Given the description of an element on the screen output the (x, y) to click on. 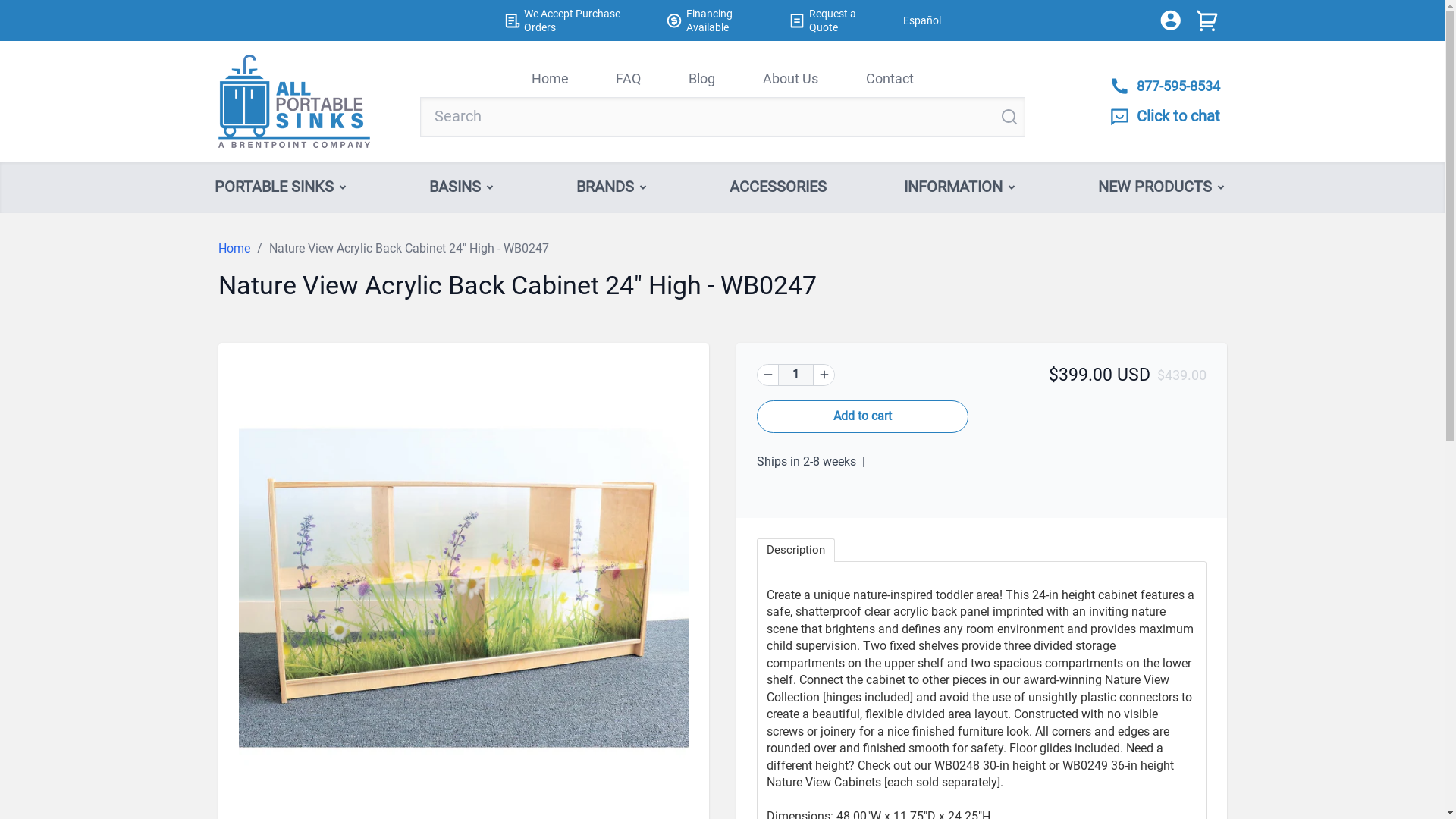
Contact (890, 77)
Click to chat (1164, 116)
Sign in (1170, 20)
Cart (1207, 20)
Sign in (1170, 20)
Request a Quote (837, 20)
PORTABLE SINKS (283, 186)
Cart (1207, 20)
Financing Available (719, 20)
FAQ (627, 77)
